Given the description of an element on the screen output the (x, y) to click on. 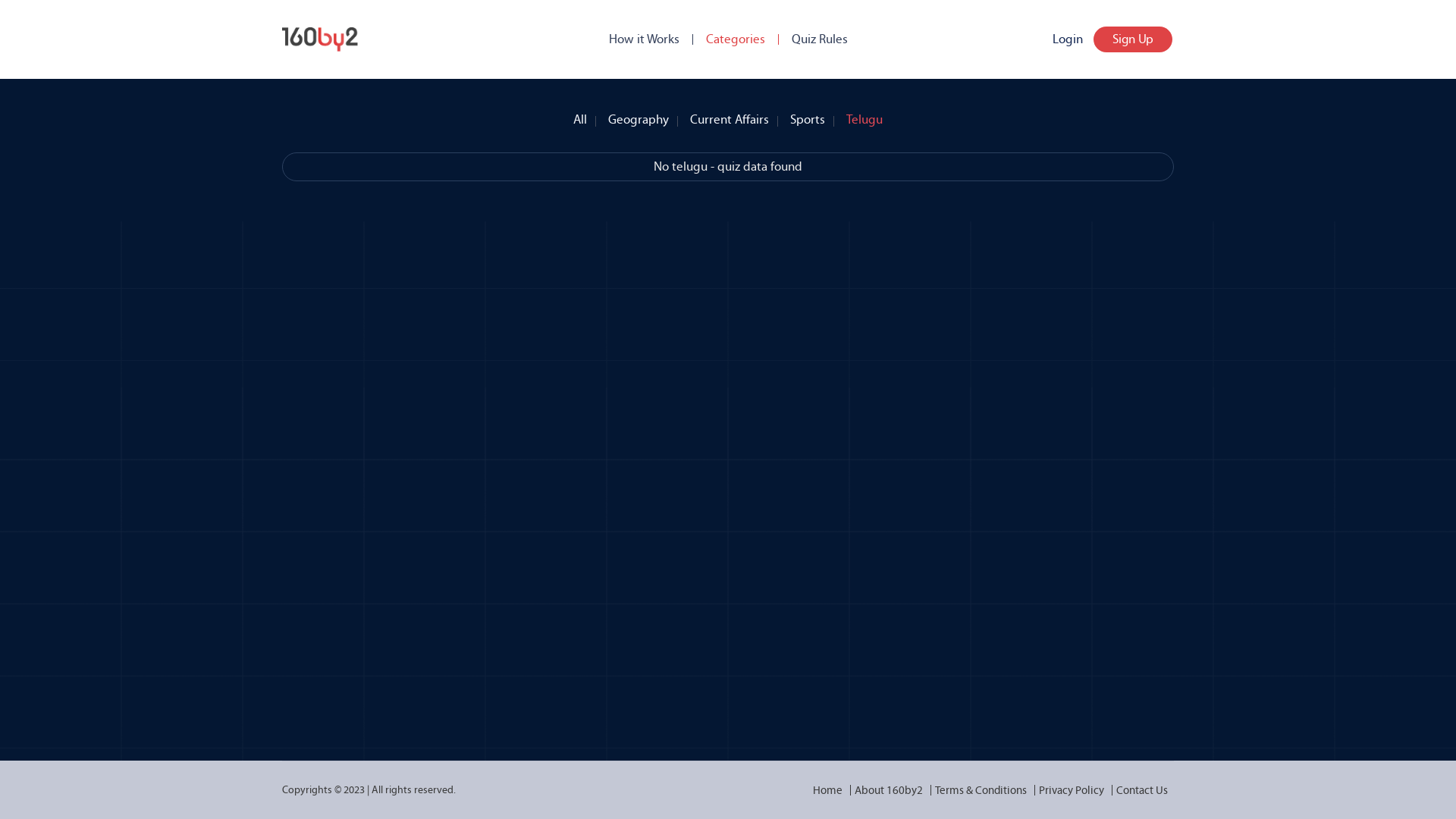
Login Element type: text (1067, 39)
Terms & Conditions Element type: text (980, 789)
Current Affairs Element type: text (729, 115)
Geography Element type: text (638, 115)
Telugu Element type: text (864, 115)
Quiz Rules Element type: text (819, 39)
Home Element type: text (827, 789)
How it Works Element type: text (643, 39)
Privacy Policy Element type: text (1071, 789)
All Element type: text (579, 115)
Contact Us Element type: text (1141, 789)
Sports Element type: text (807, 115)
Categories Element type: text (734, 39)
About 160by2 Element type: text (888, 789)
Sign Up Element type: text (1132, 39)
